Given the description of an element on the screen output the (x, y) to click on. 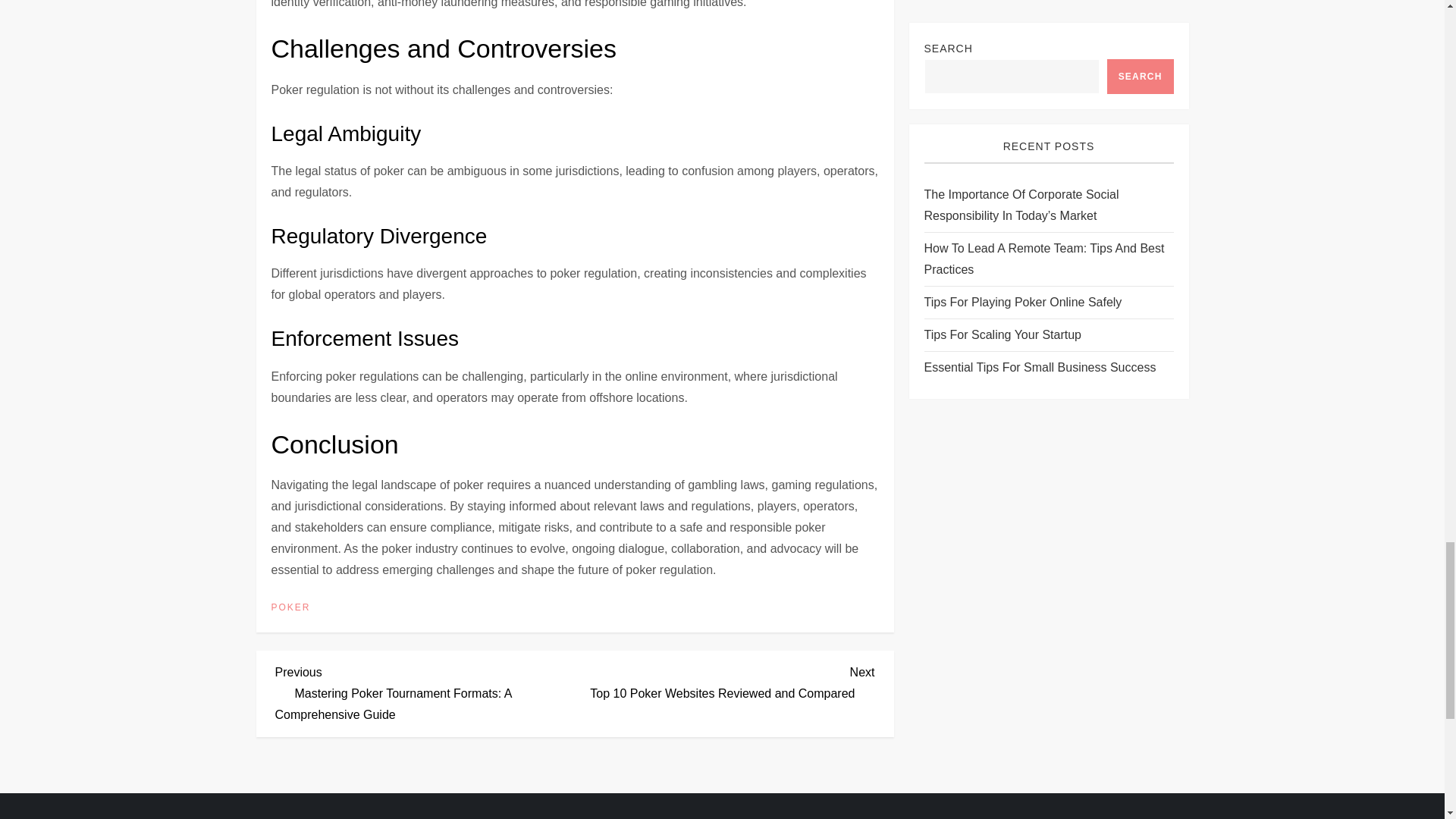
POKER (290, 607)
